Given the description of an element on the screen output the (x, y) to click on. 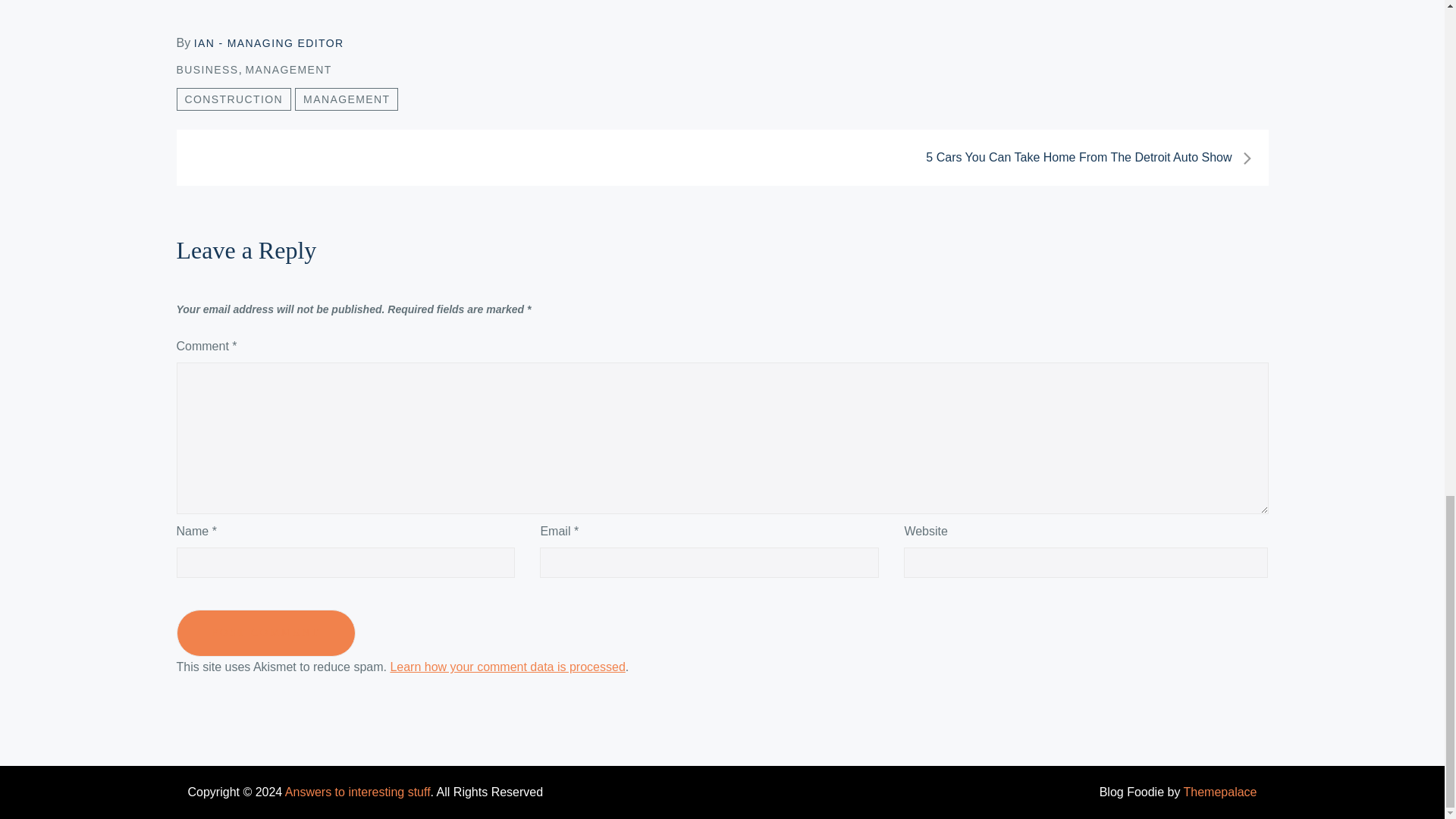
IAN - MANAGING EDITOR (268, 42)
MANAGEMENT (287, 69)
Post Comment (265, 632)
BUSINESS (207, 69)
CONSTRUCTION (233, 98)
Answers to interesting stuff (357, 791)
Learn how your comment data is processed (507, 666)
Post Comment (265, 632)
Themepalace (1220, 791)
MANAGEMENT (346, 98)
